Given the description of an element on the screen output the (x, y) to click on. 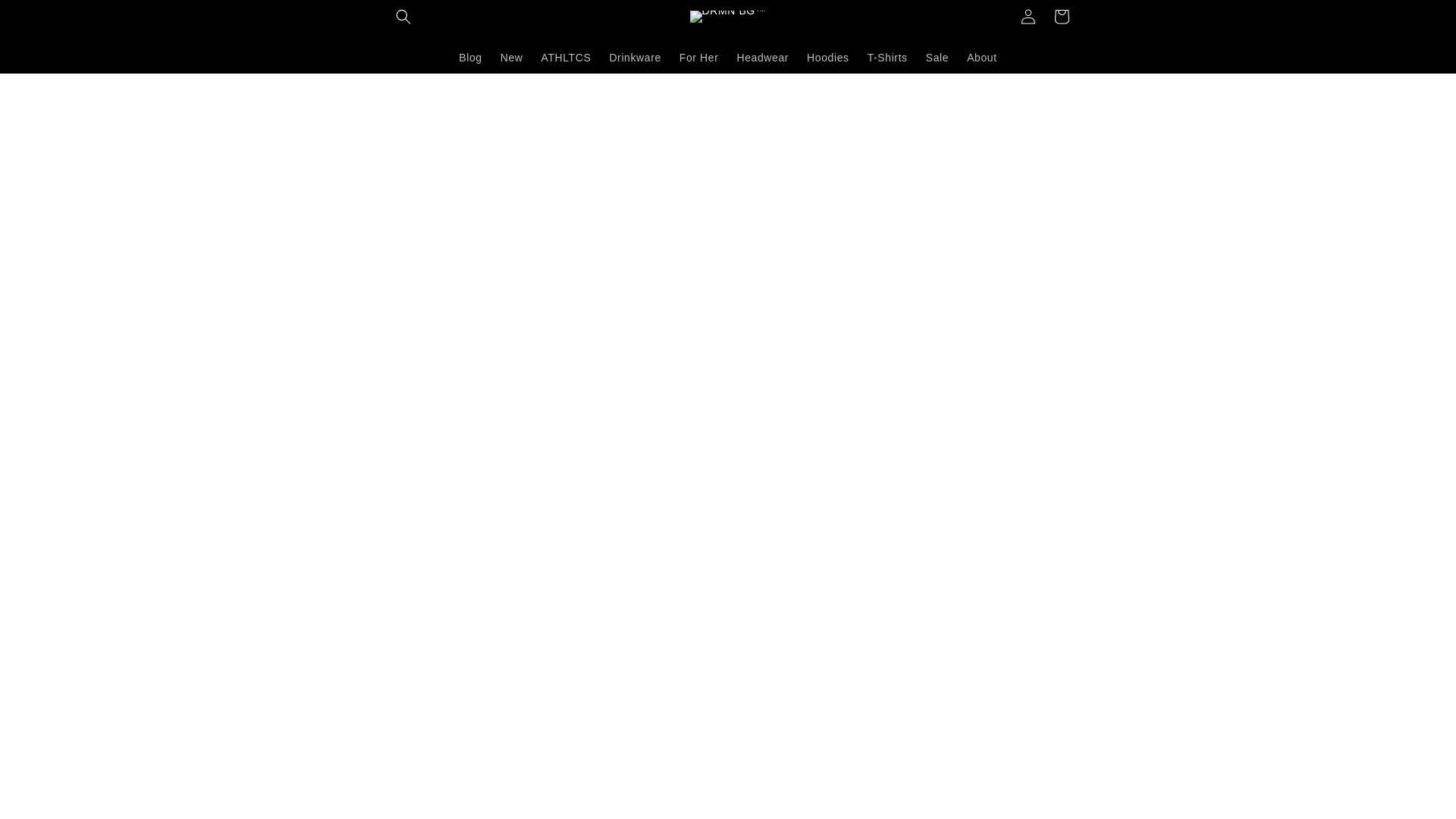
New (512, 56)
Hoodies (828, 56)
Drinkware (634, 56)
Skip to content (45, 17)
Blog (469, 56)
ATHLTCS (565, 56)
Sale (937, 56)
For Her (698, 56)
About (982, 56)
Headwear (761, 56)
